Given the description of an element on the screen output the (x, y) to click on. 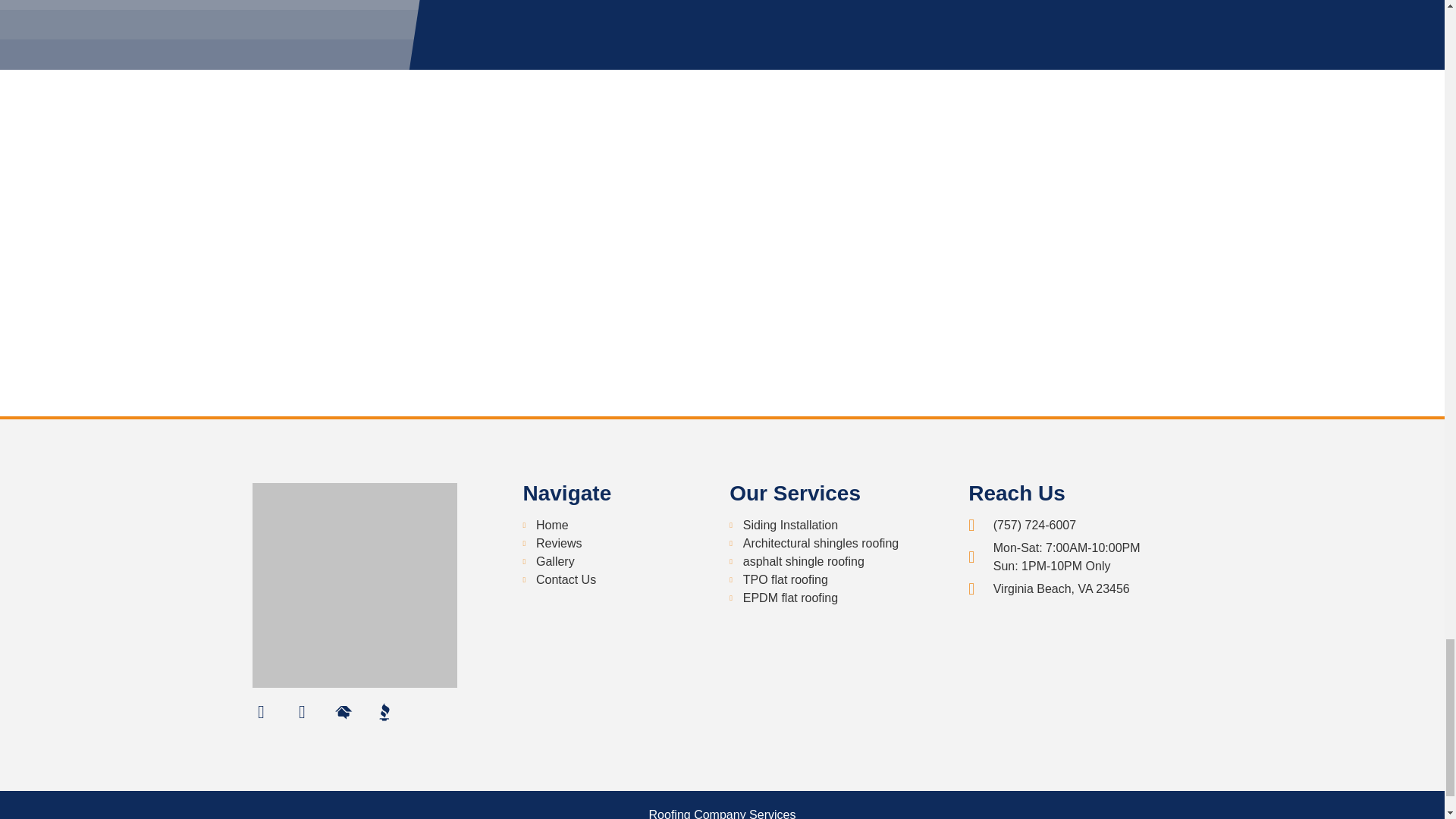
Home 14 (240, 34)
